Given the description of an element on the screen output the (x, y) to click on. 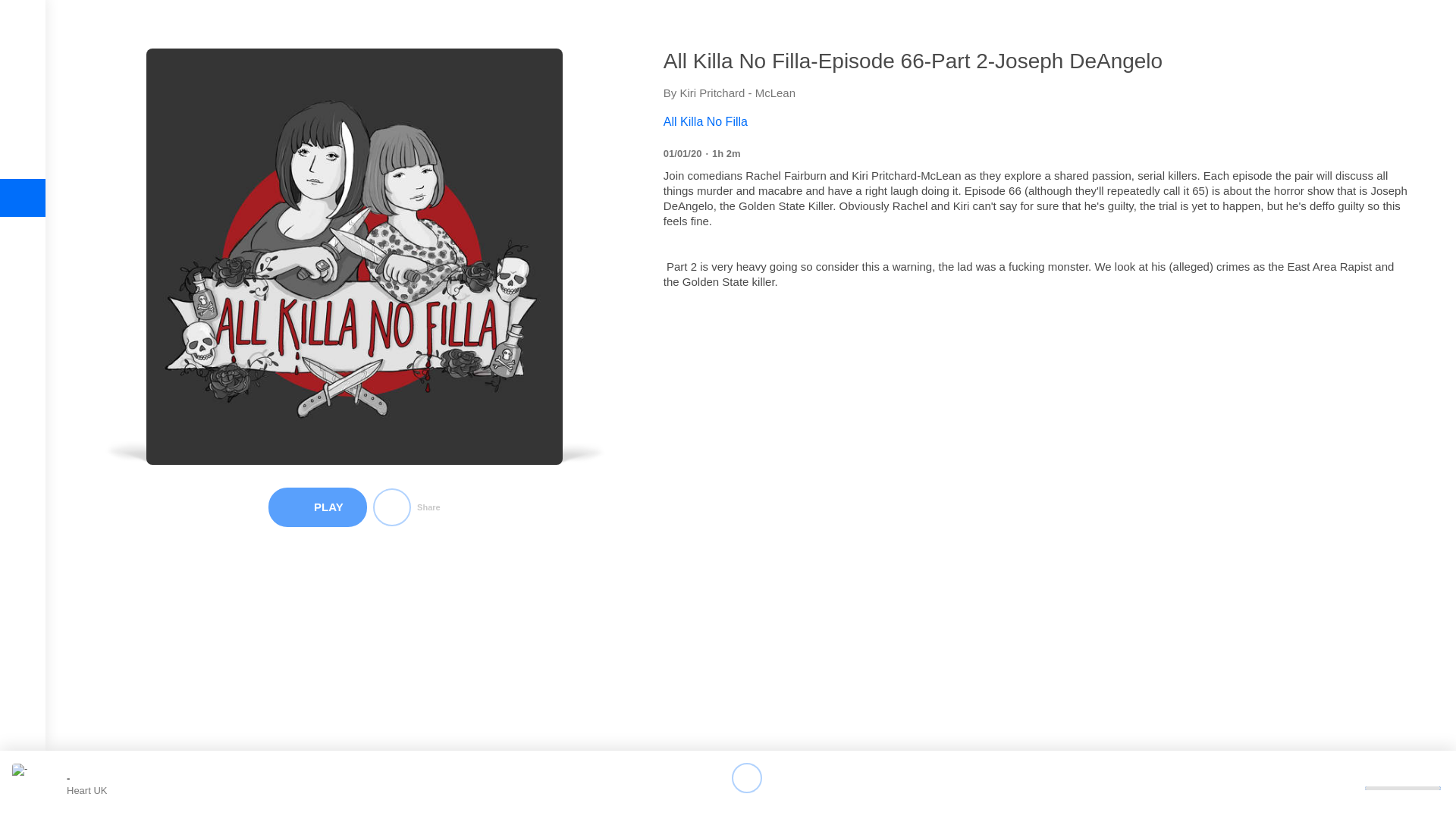
Share (406, 507)
Global Player (22, 30)
All Killa No Filla (1035, 121)
PLAY (316, 507)
Share (406, 507)
Global Player (22, 30)
